Given the description of an element on the screen output the (x, y) to click on. 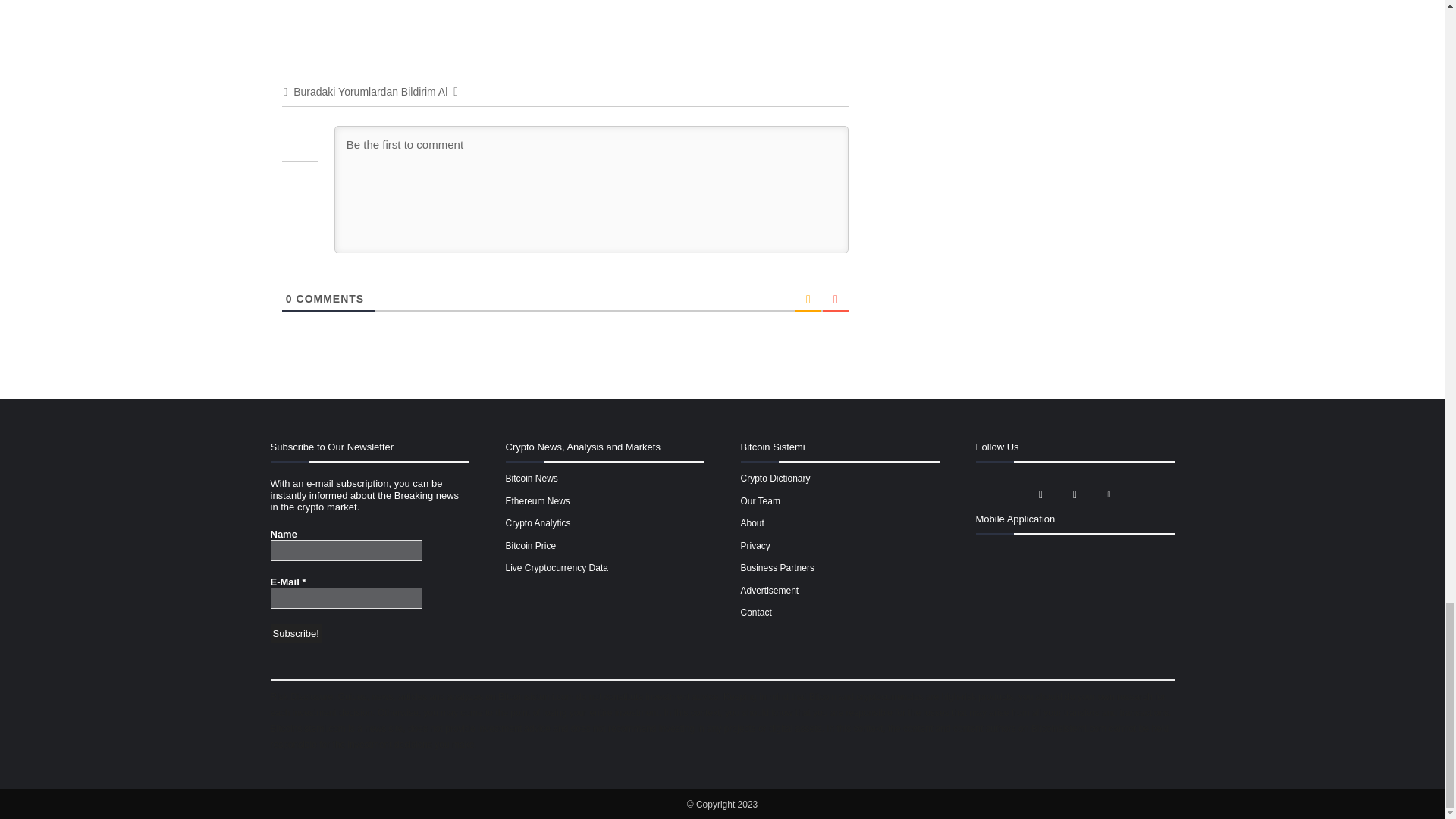
Subscribe! (294, 633)
